Given the description of an element on the screen output the (x, y) to click on. 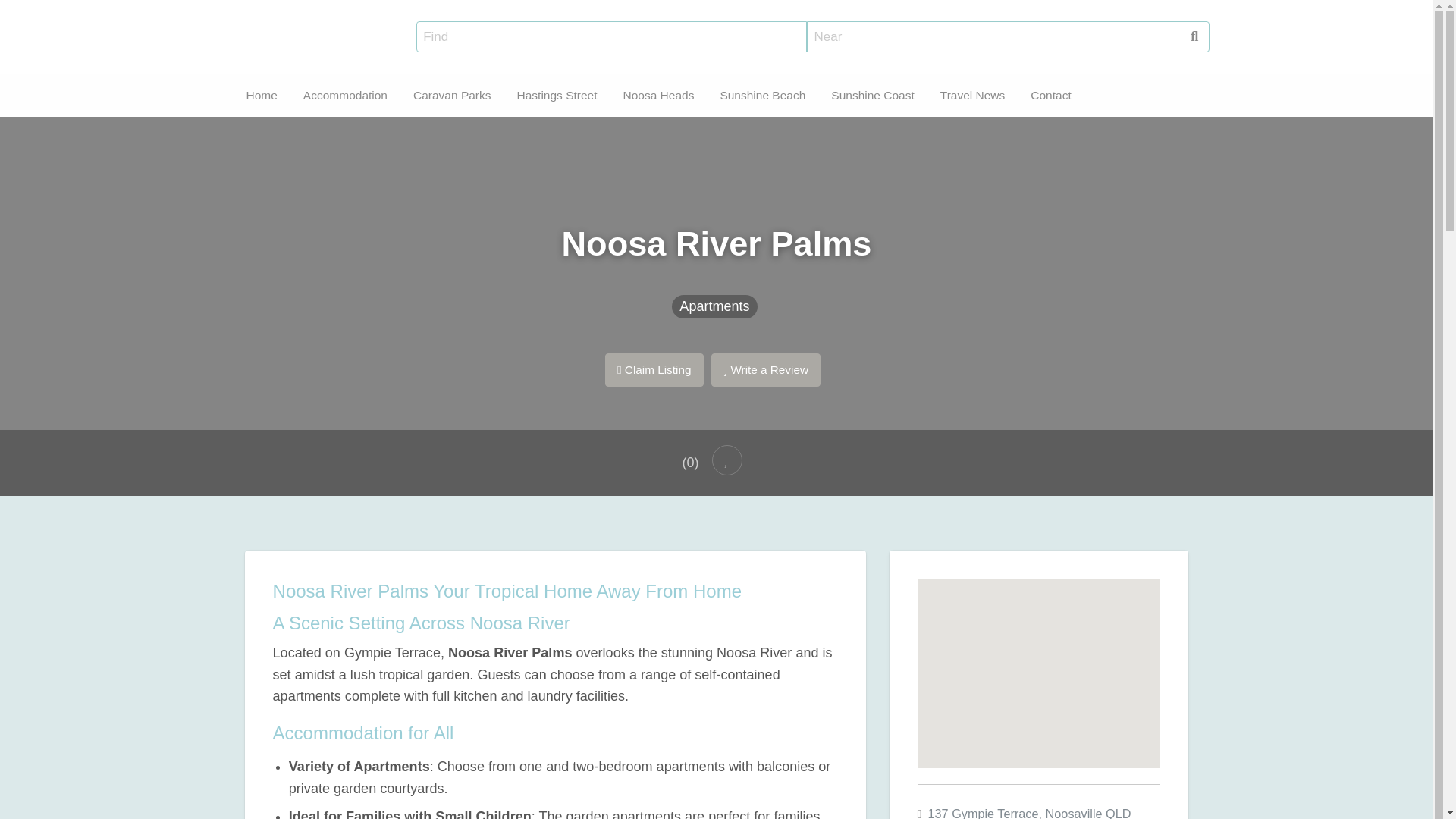
Noosa Holiday Accommodation (261, 29)
Home (260, 94)
Caravan Parks (37, 133)
Sunshine Beach (259, 133)
Hastings Street (113, 133)
Noosa Heads (185, 133)
Travel News (415, 133)
Search (30, 16)
You must be logged in to save favorites. (726, 460)
Search (30, 16)
Contact (482, 133)
Sunshine Coast (342, 133)
